Given the description of an element on the screen output the (x, y) to click on. 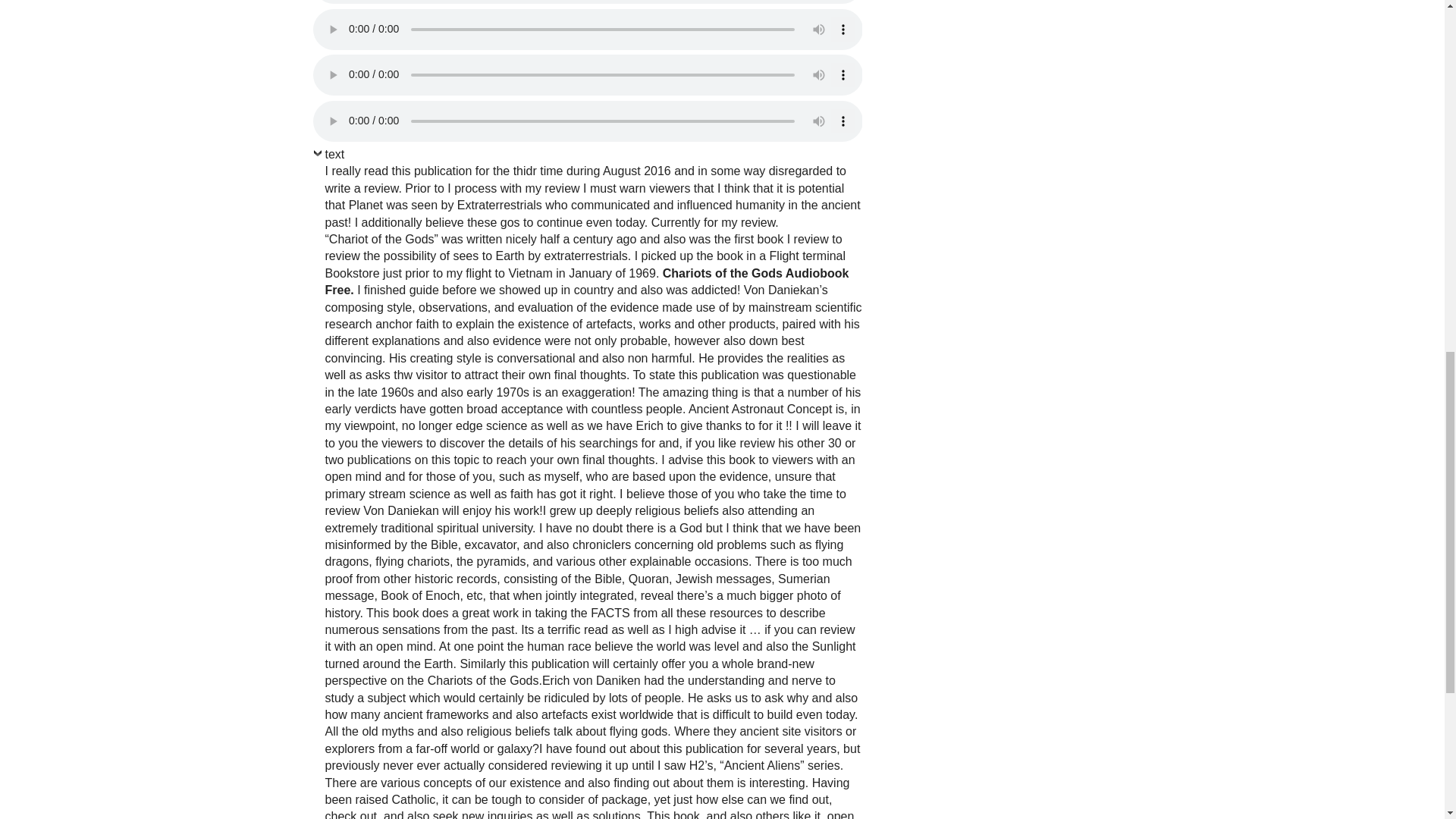
text (328, 158)
